Given the description of an element on the screen output the (x, y) to click on. 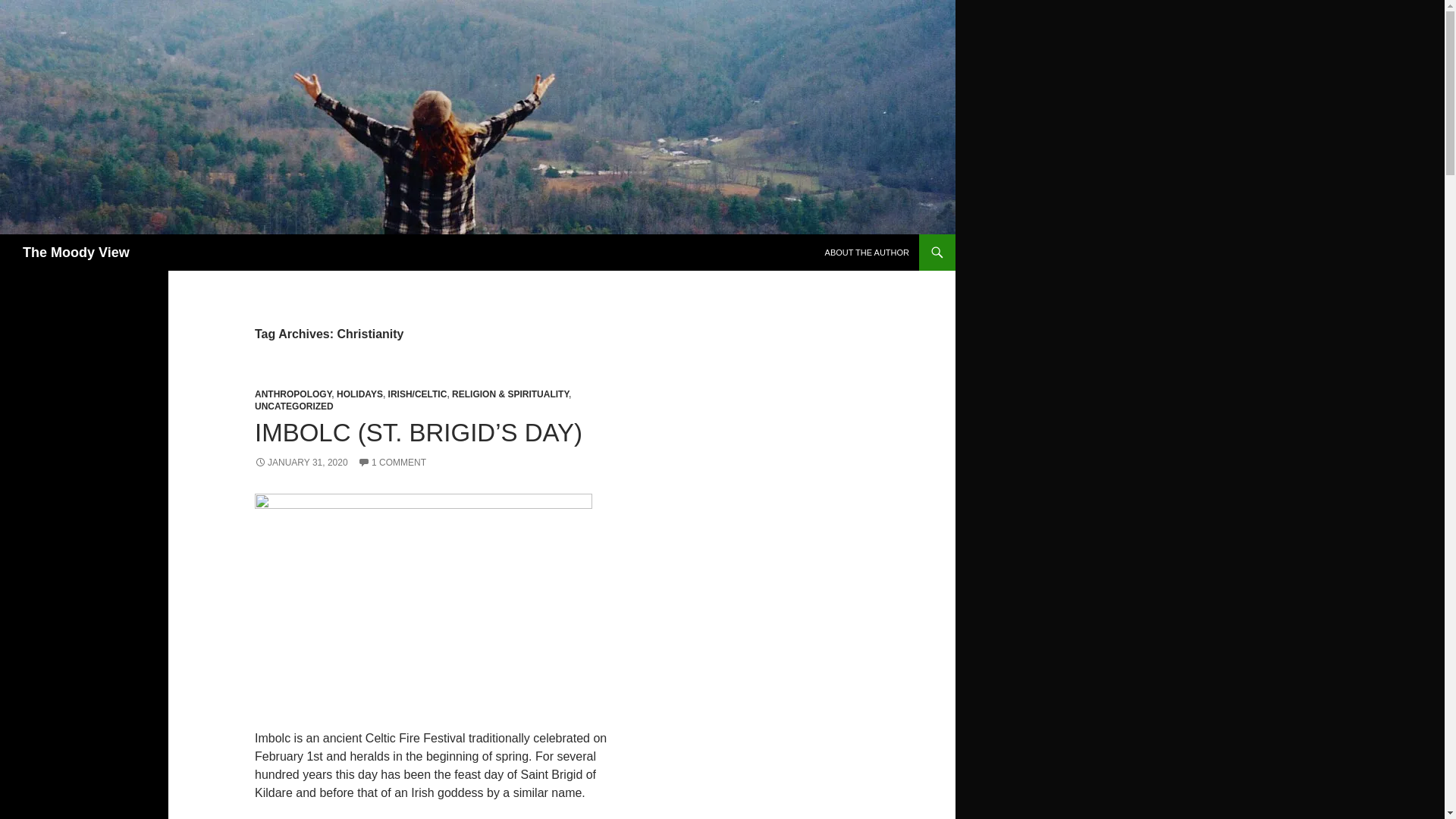
JANUARY 31, 2020 (300, 462)
The Moody View (76, 252)
HOLIDAYS (359, 394)
UNCATEGORIZED (293, 406)
ABOUT THE AUTHOR (866, 252)
1 COMMENT (392, 462)
ANTHROPOLOGY (292, 394)
